Given the description of an element on the screen output the (x, y) to click on. 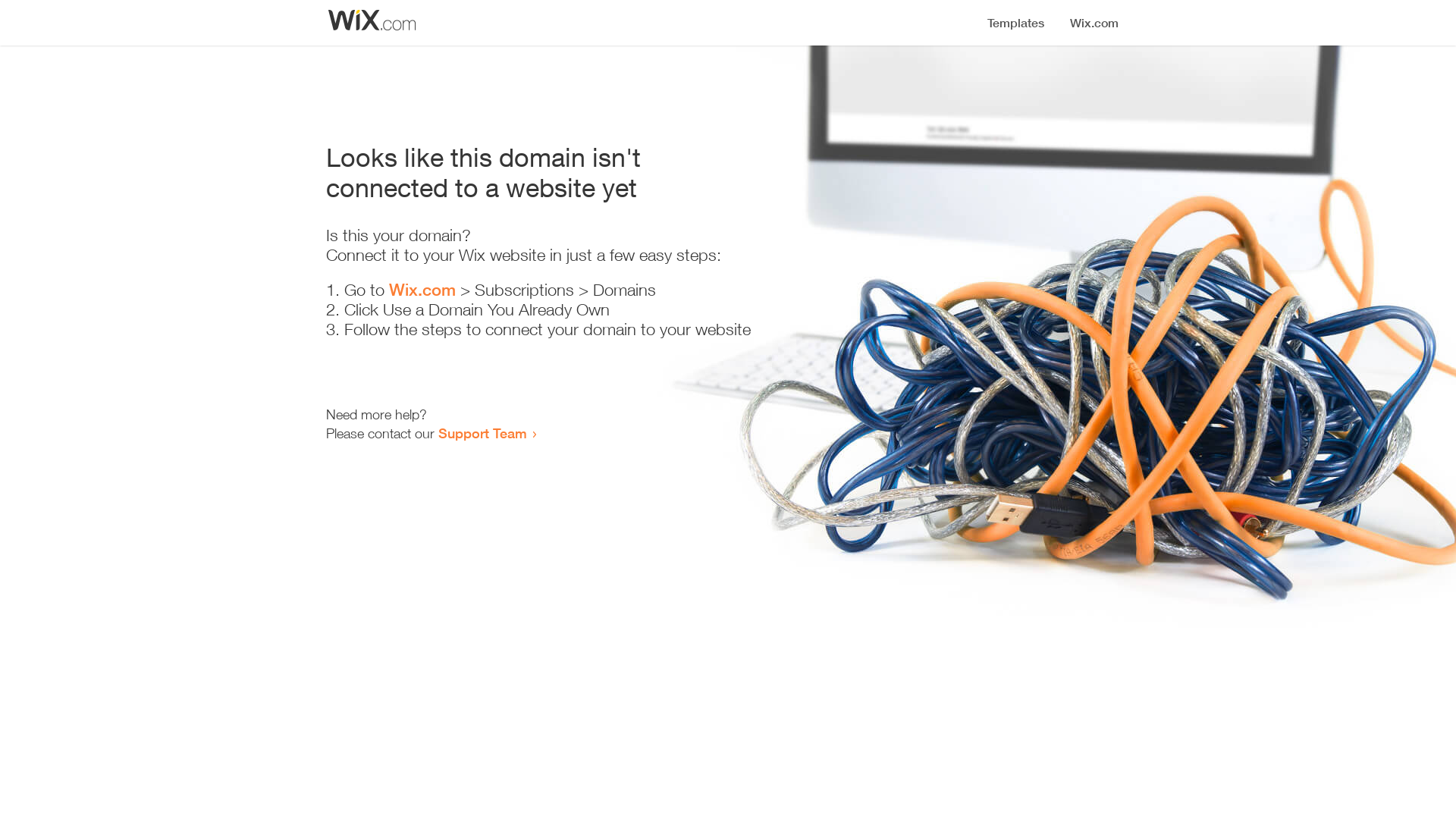
Support Team Element type: text (482, 432)
Wix.com Element type: text (422, 289)
